Given the description of an element on the screen output the (x, y) to click on. 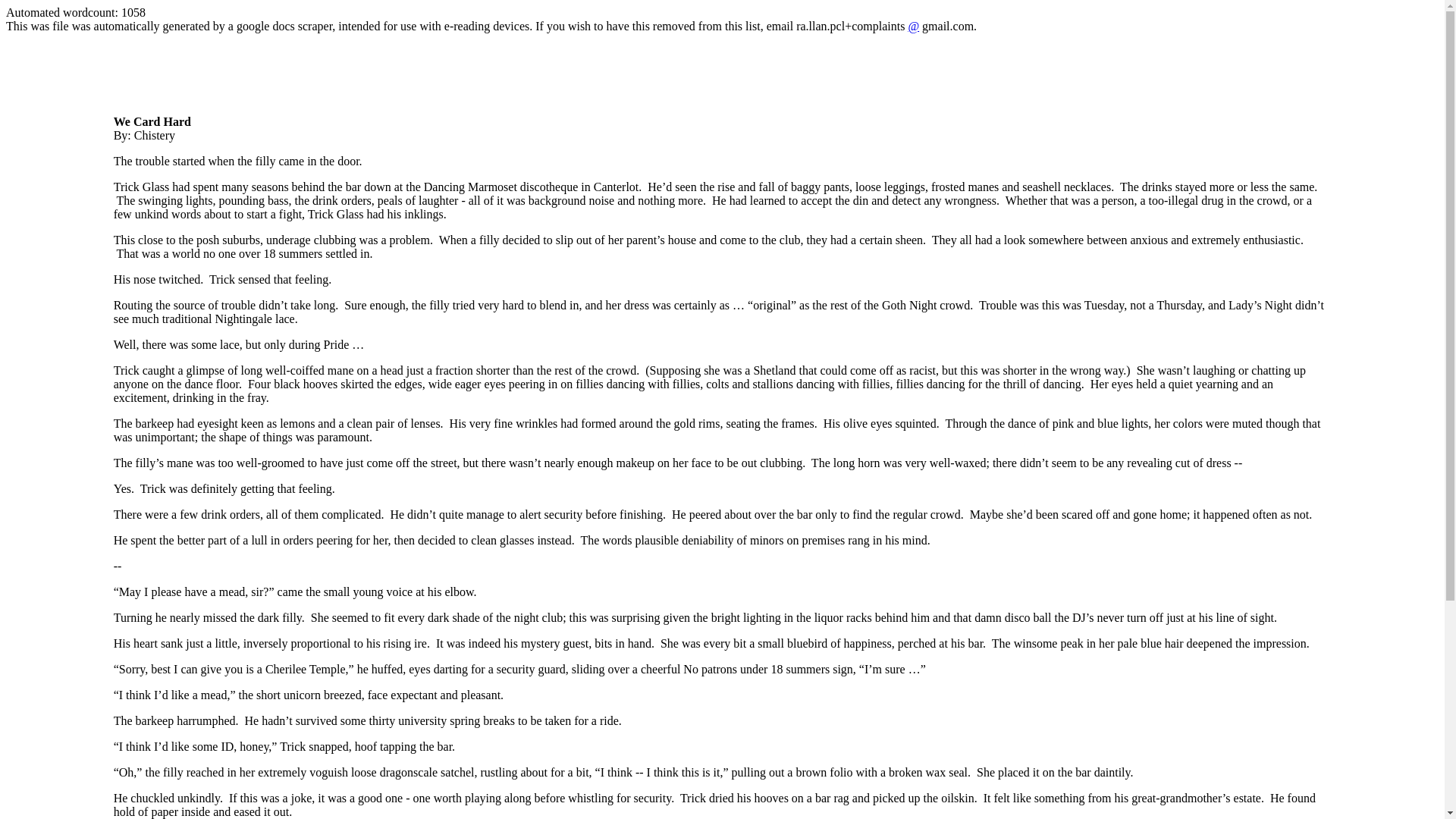
Advertisement (389, 80)
